Given the description of an element on the screen output the (x, y) to click on. 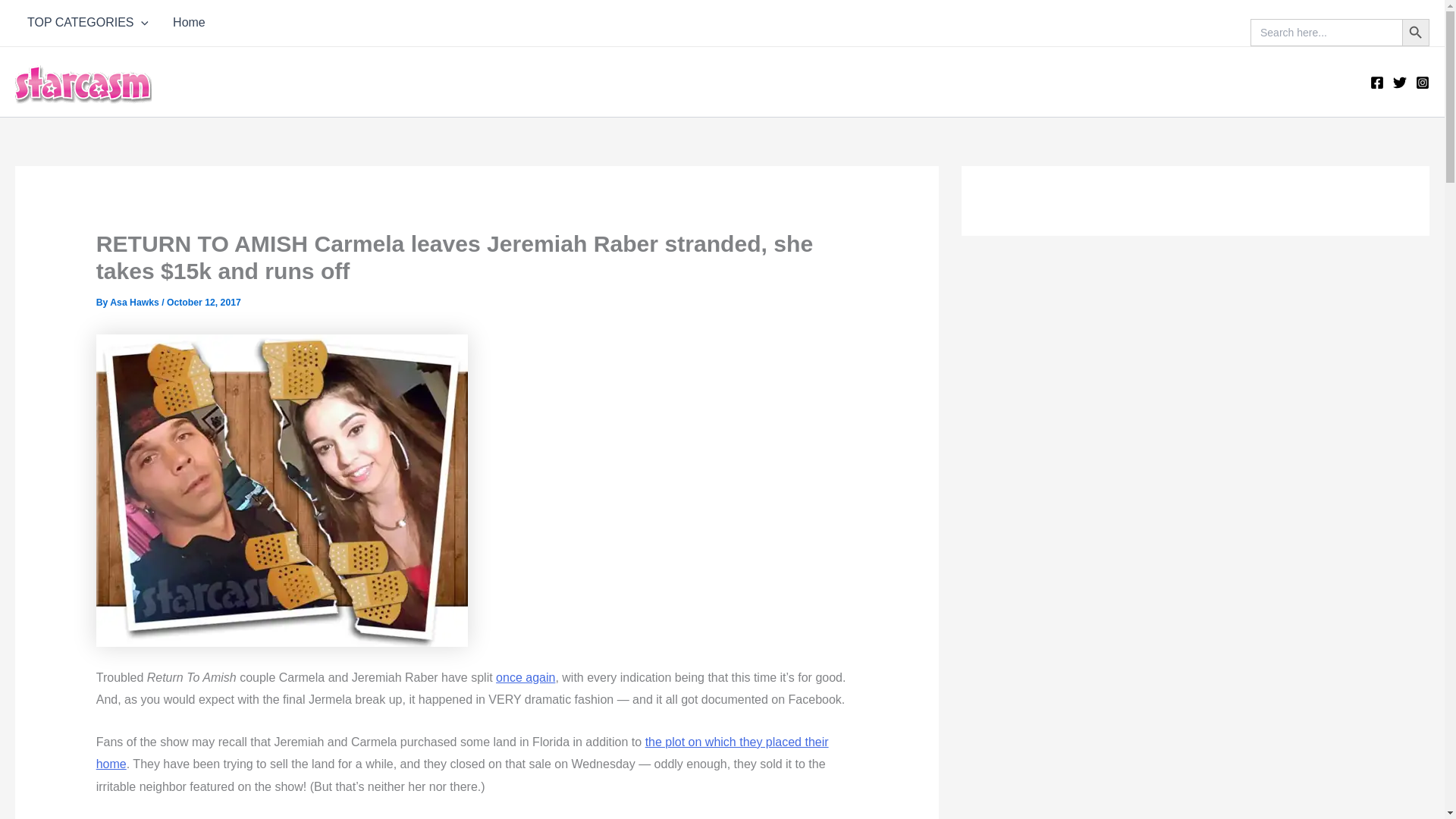
Asa Hawks (135, 302)
Home (188, 22)
View all posts by Asa Hawks (135, 302)
TOP CATEGORIES (87, 22)
Jeremiah Raber and wife Carmela break up again again (281, 490)
once again (525, 676)
Search Button (1415, 31)
